Given the description of an element on the screen output the (x, y) to click on. 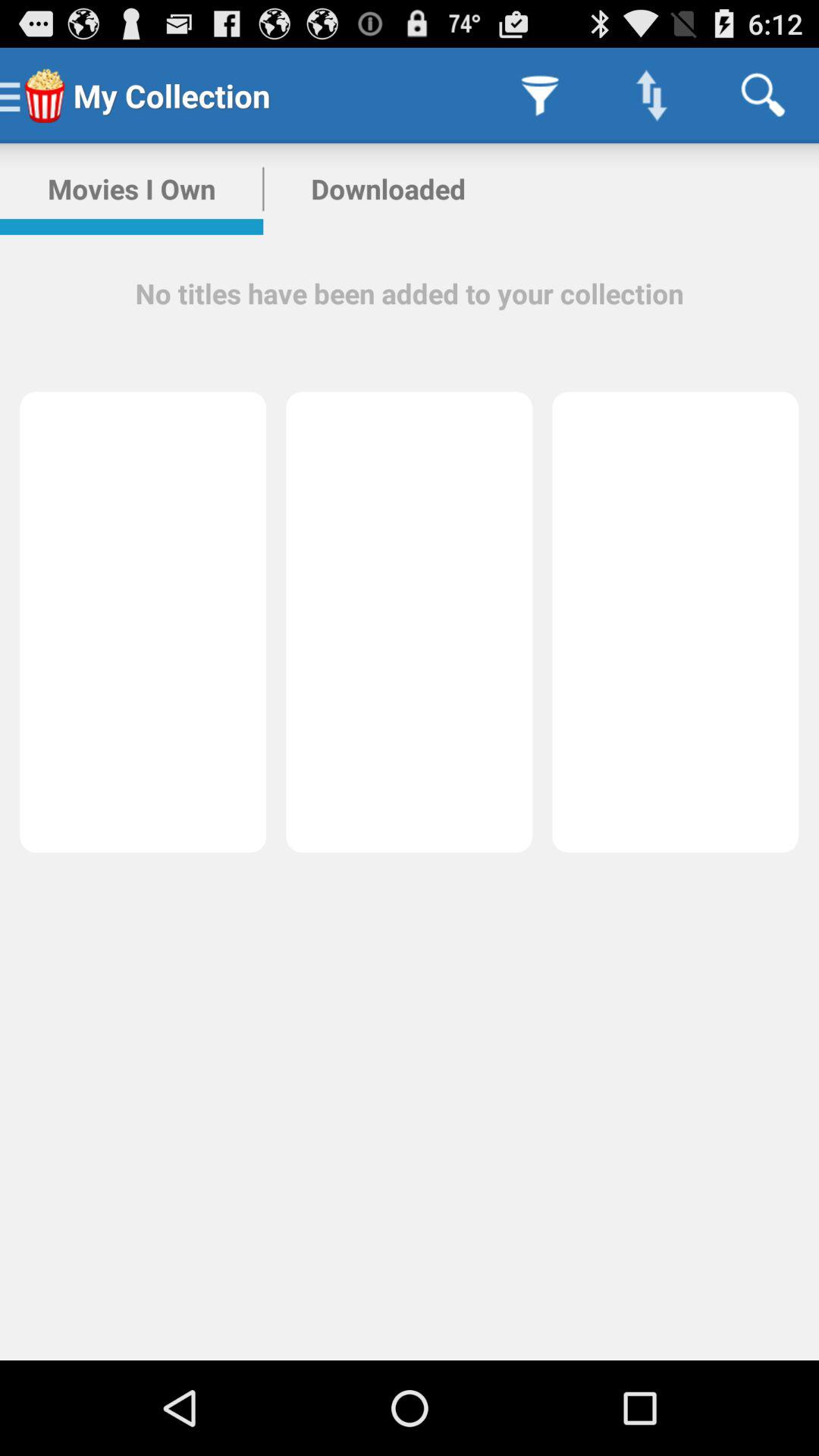
click icon next to the my collection icon (540, 95)
